Given the description of an element on the screen output the (x, y) to click on. 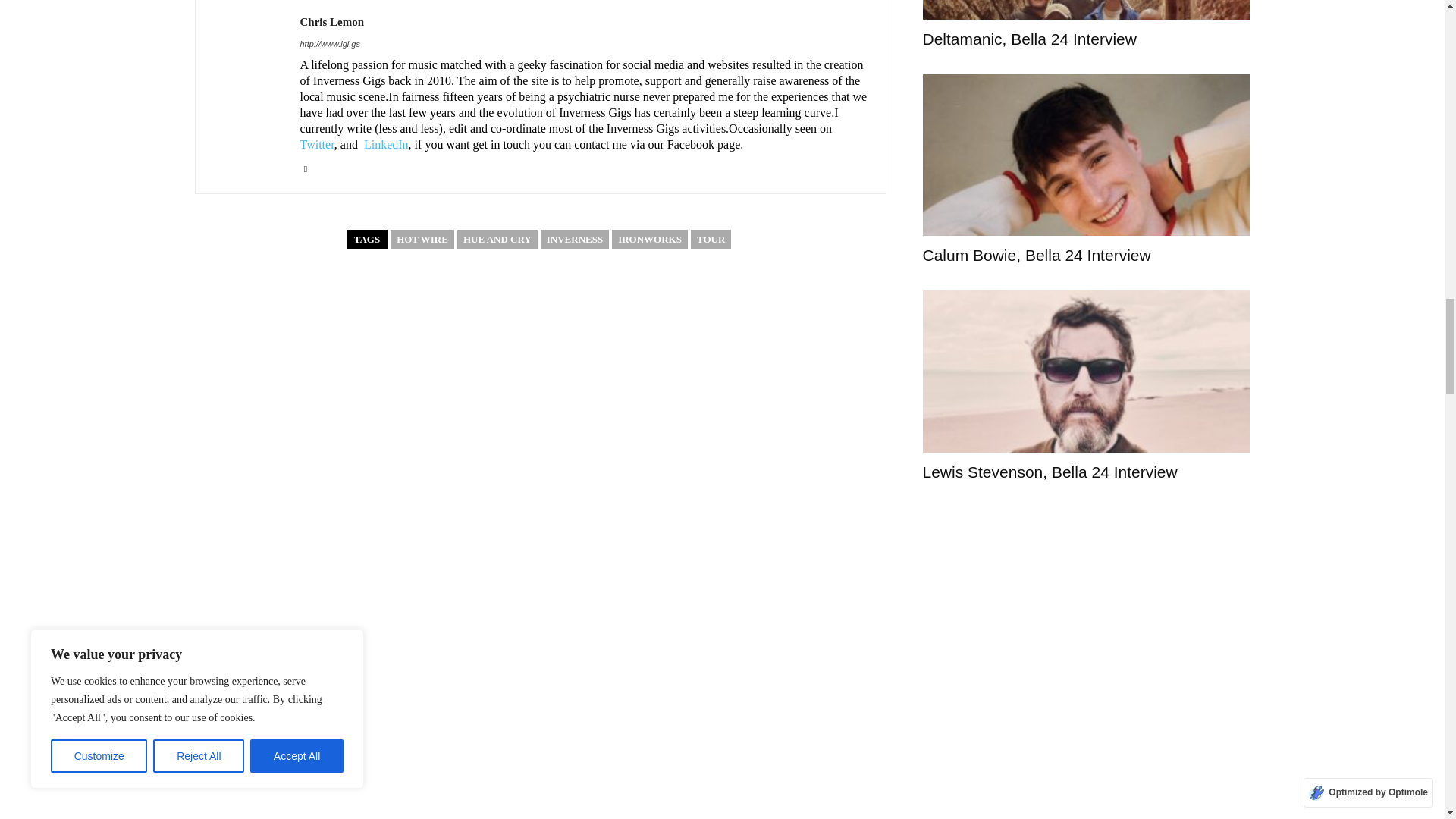
Twitter (305, 165)
